Given the description of an element on the screen output the (x, y) to click on. 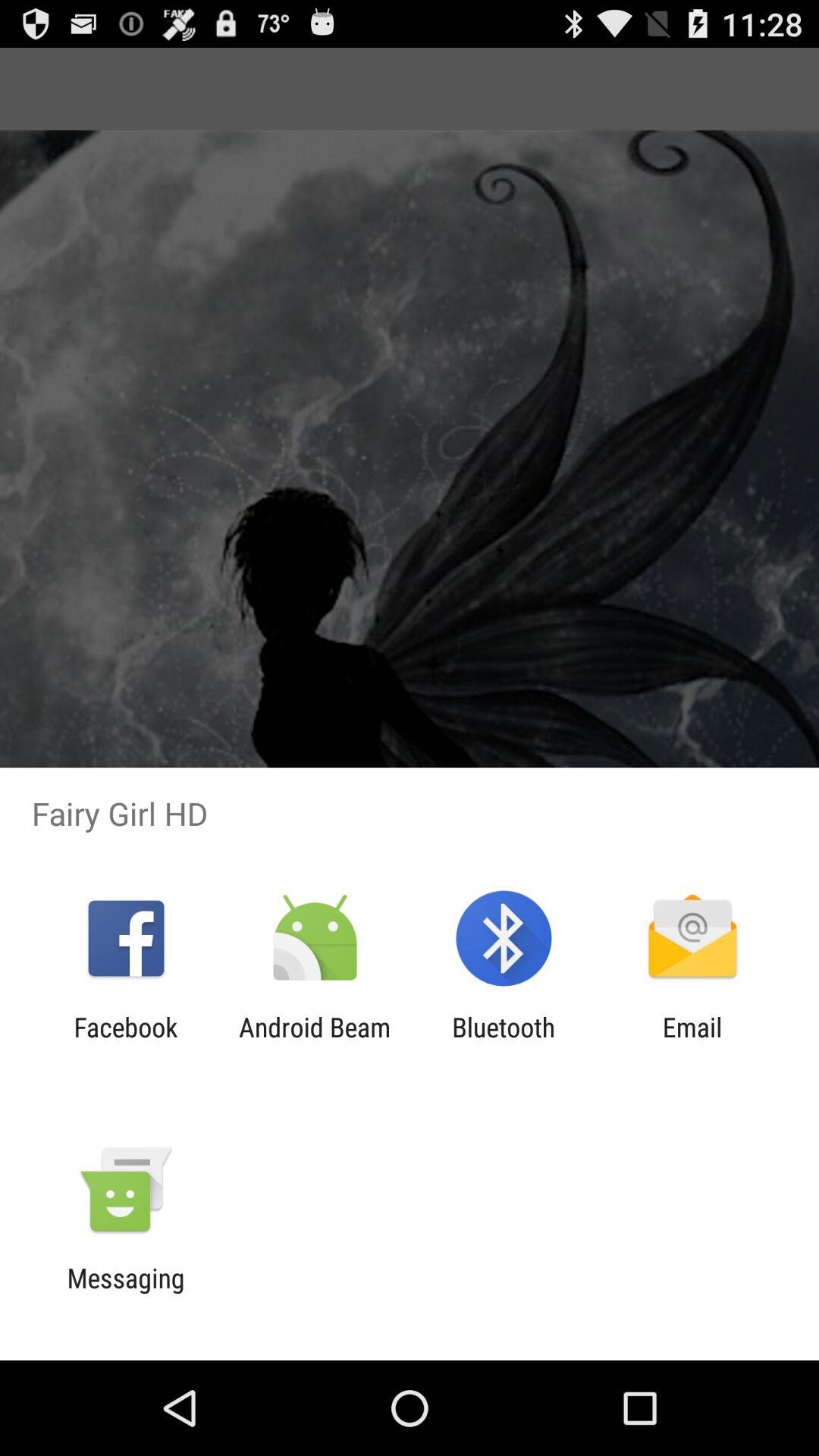
launch facebook icon (125, 1042)
